Given the description of an element on the screen output the (x, y) to click on. 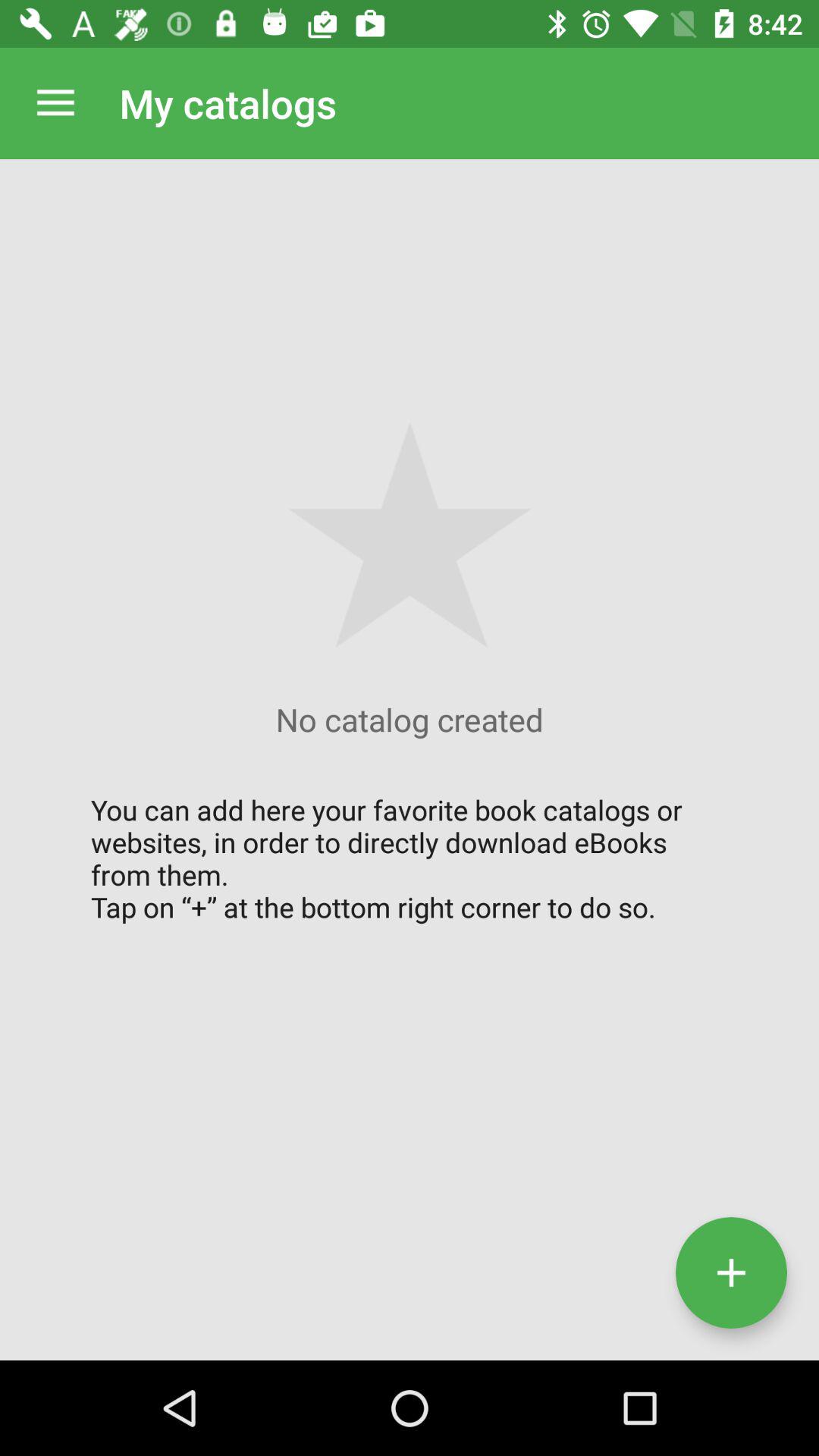
turn off the icon next to the my catalogs icon (55, 103)
